Given the description of an element on the screen output the (x, y) to click on. 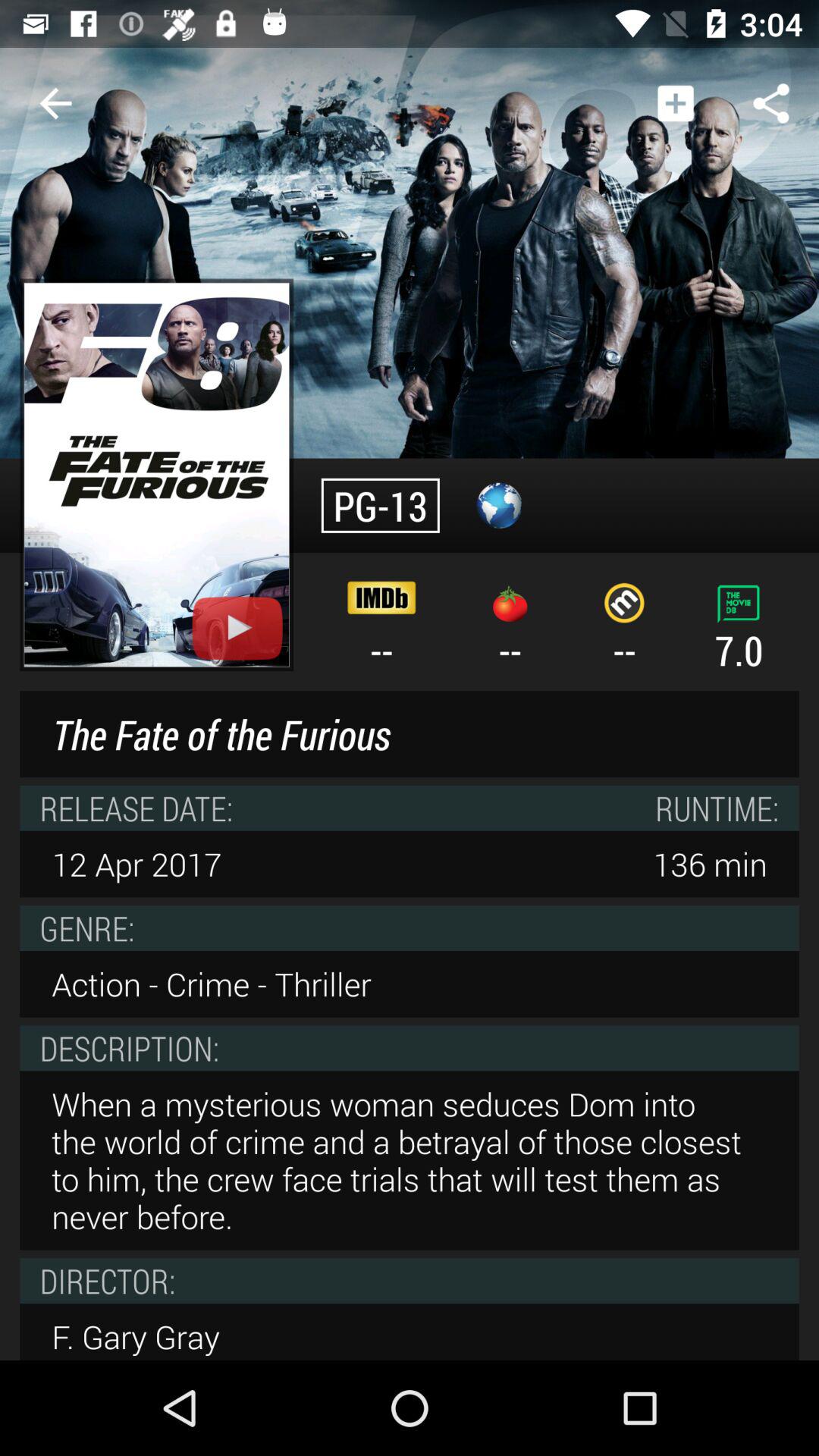
click the icon to the right of the -- icon (510, 631)
